Given the description of an element on the screen output the (x, y) to click on. 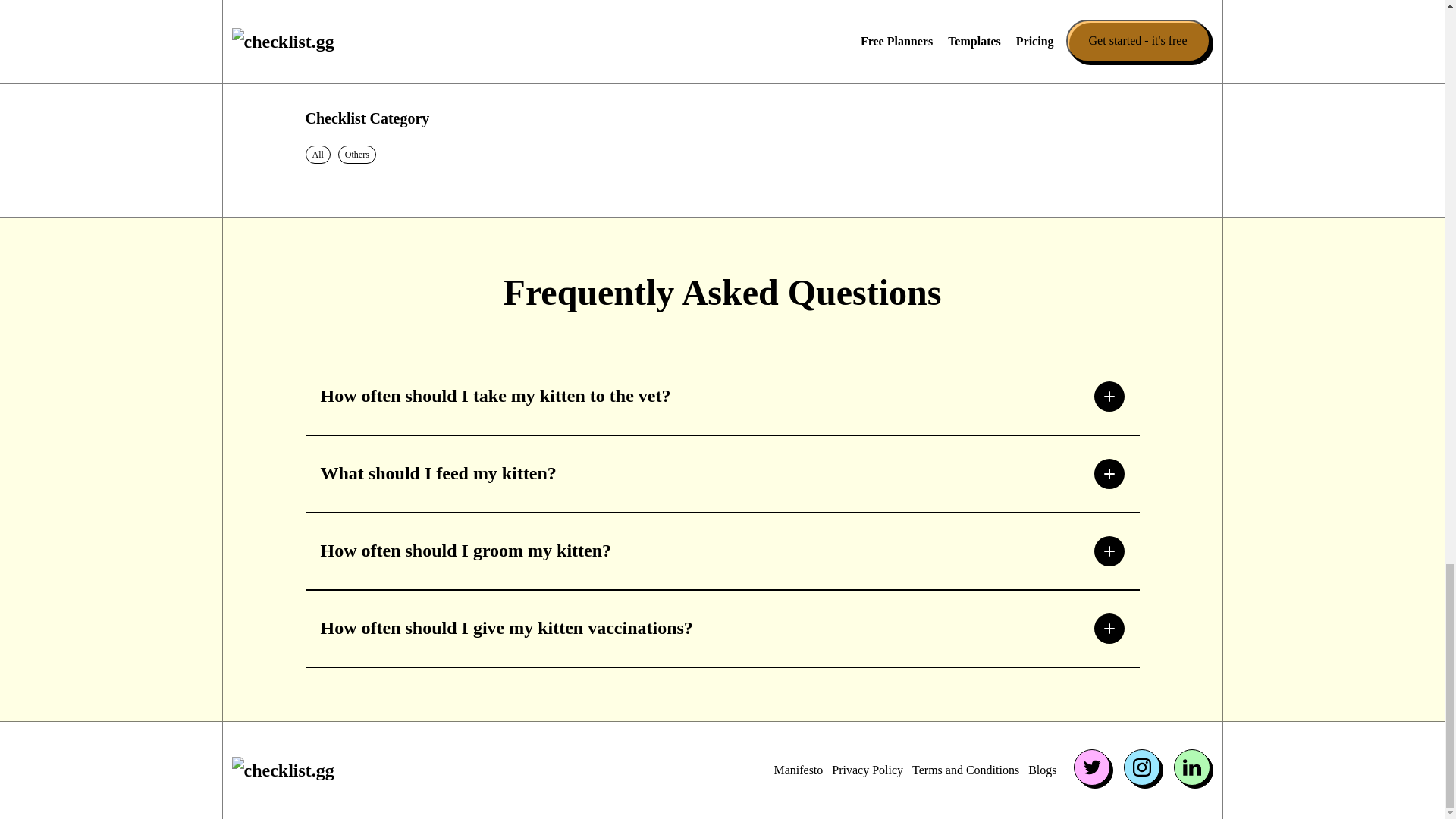
Others (357, 154)
Terms and Conditions (965, 770)
Privacy Policy (866, 770)
Blogs (1042, 770)
Manifesto (797, 770)
See Instructions (360, 32)
All (317, 154)
